Given the description of an element on the screen output the (x, y) to click on. 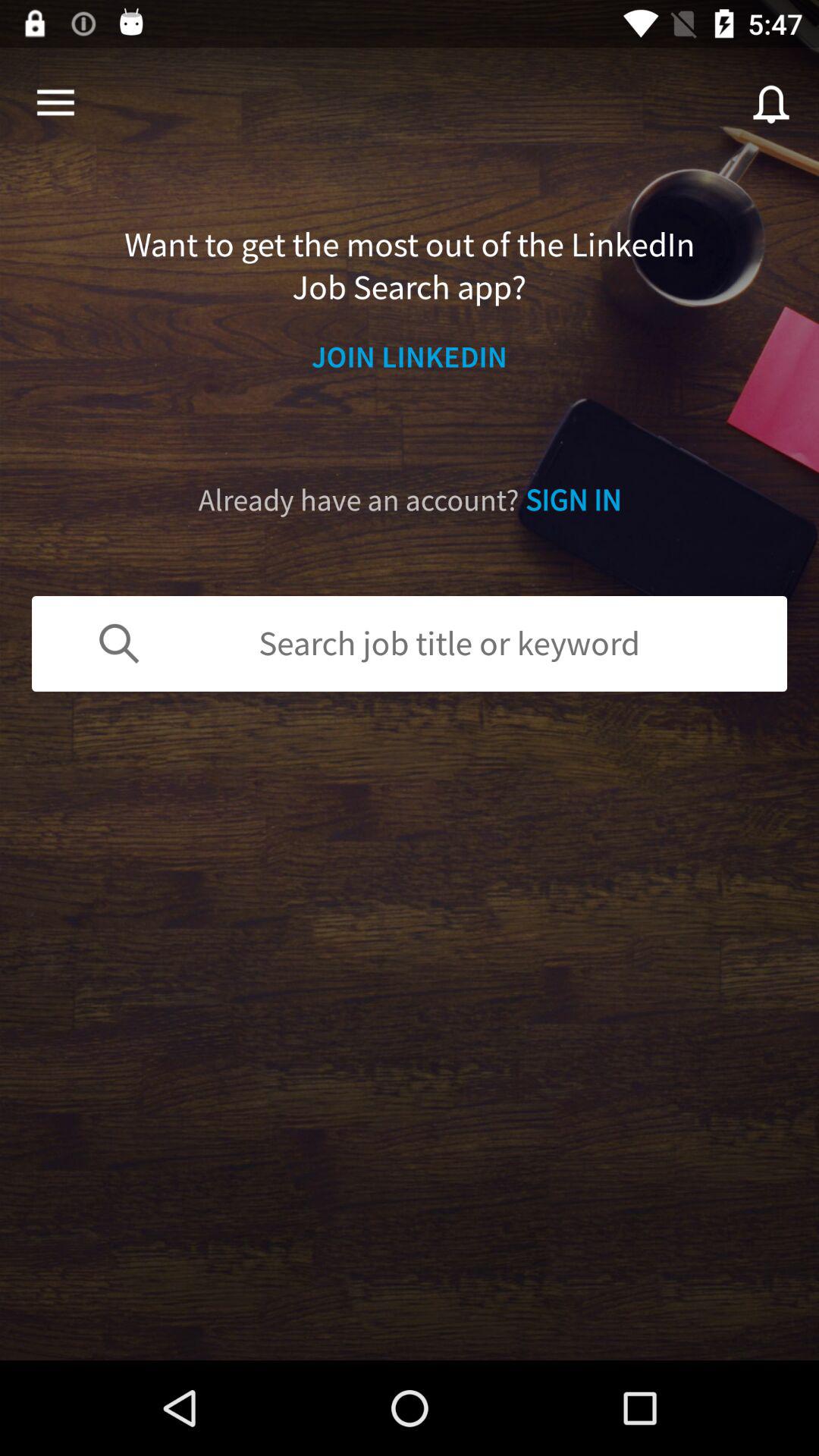
press the item below the join linkedin (409, 500)
